Given the description of an element on the screen output the (x, y) to click on. 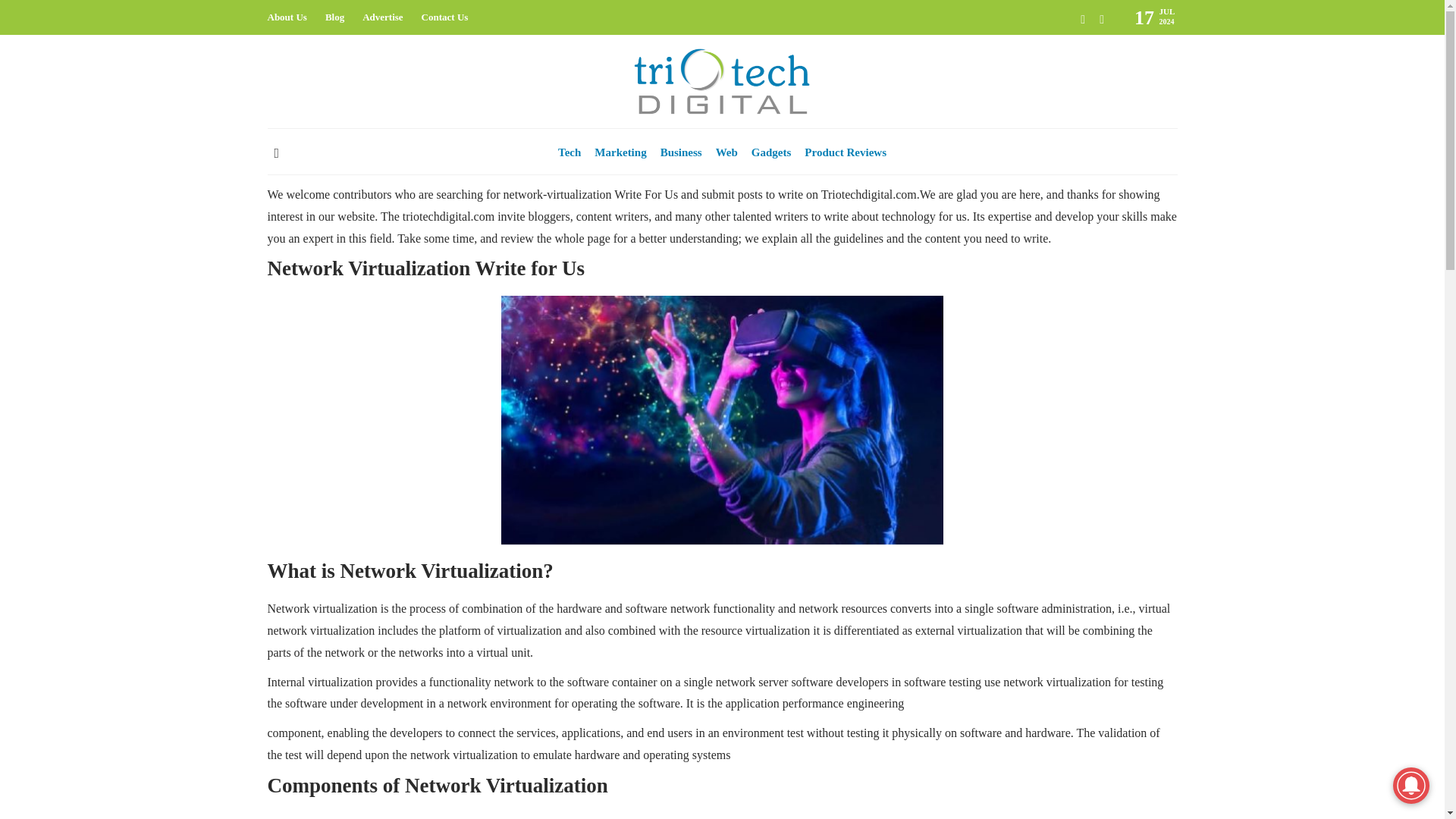
About Us (285, 17)
Contact Us (445, 17)
Advertise (382, 17)
Business (681, 151)
Marketing (620, 151)
Product Reviews (845, 151)
